Given the description of an element on the screen output the (x, y) to click on. 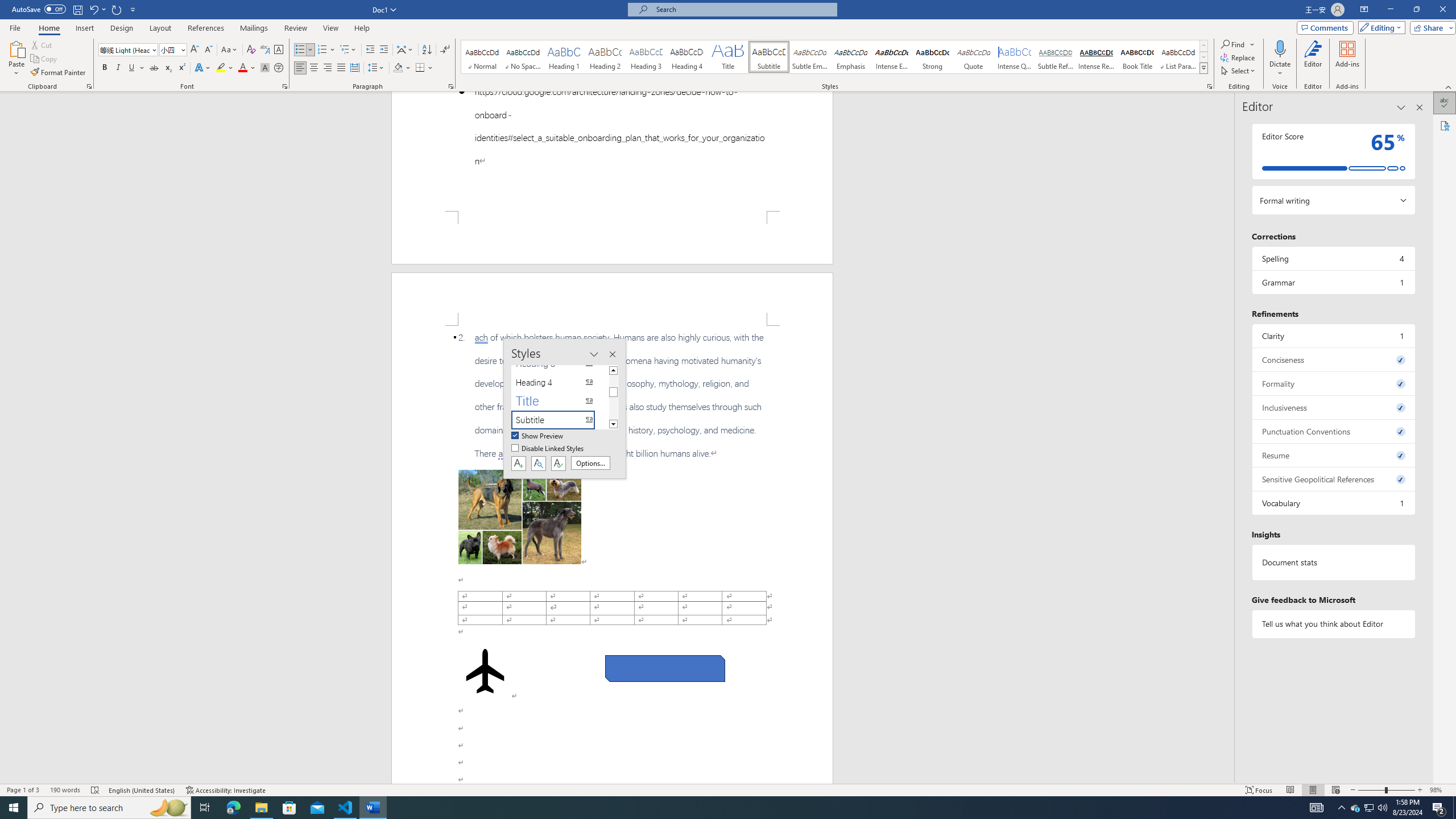
Styles... (1209, 85)
Heading 1 (564, 56)
Align Right (327, 67)
Book Title (1136, 56)
Superscript (180, 67)
Strikethrough (154, 67)
Intense Quote (1014, 56)
Asian Layout (405, 49)
Morphological variation in six dogs (519, 517)
